Given the description of an element on the screen output the (x, y) to click on. 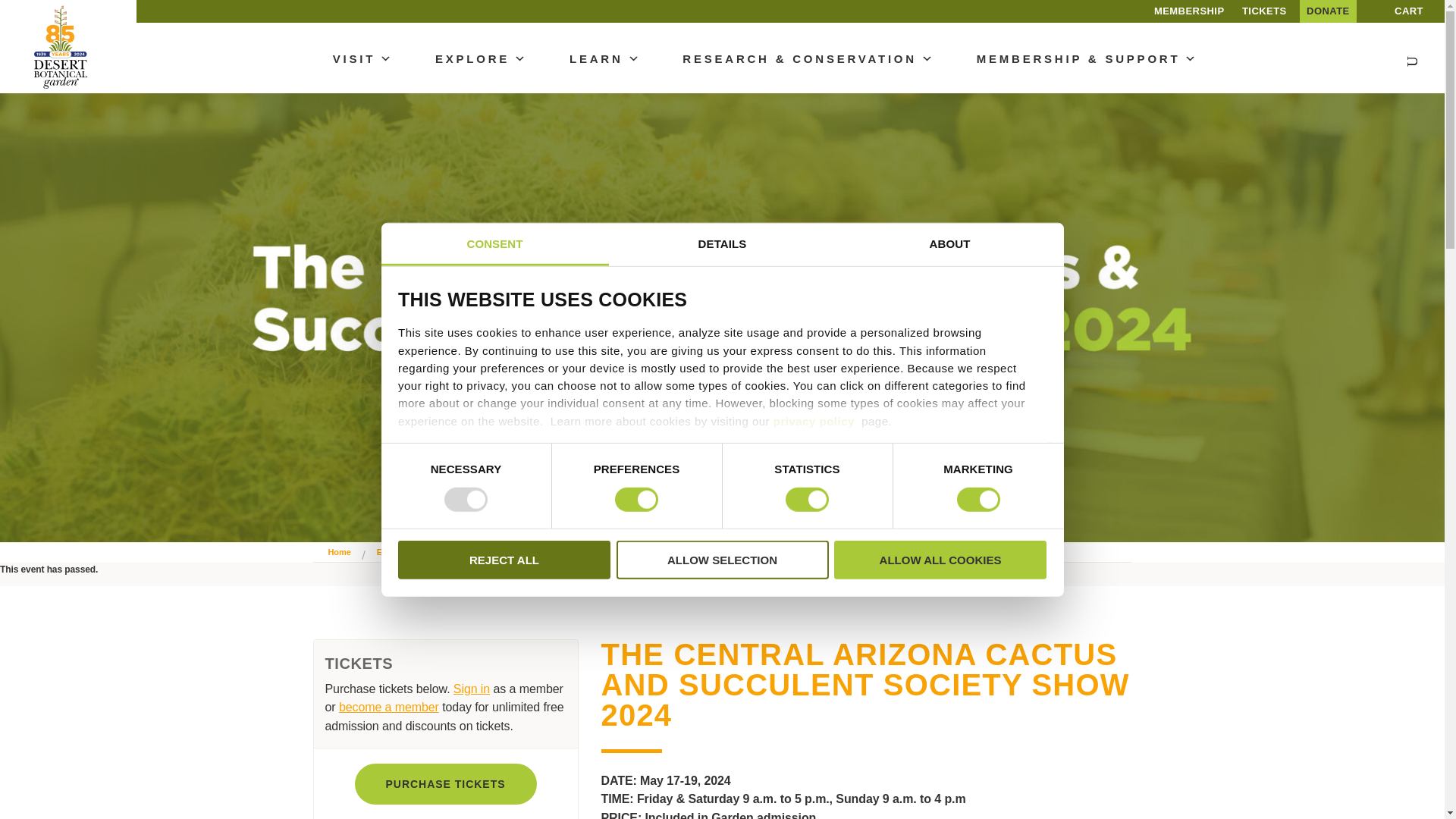
CONSENT (494, 244)
ABOUT (948, 244)
privacy policy (813, 420)
DETAILS (721, 244)
